Given the description of an element on the screen output the (x, y) to click on. 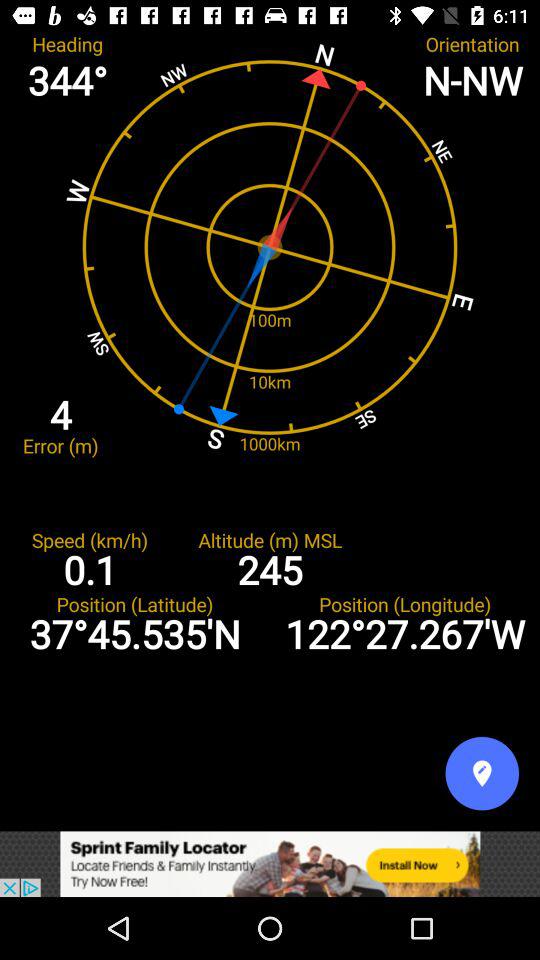
display current user coordinates (482, 773)
